Given the description of an element on the screen output the (x, y) to click on. 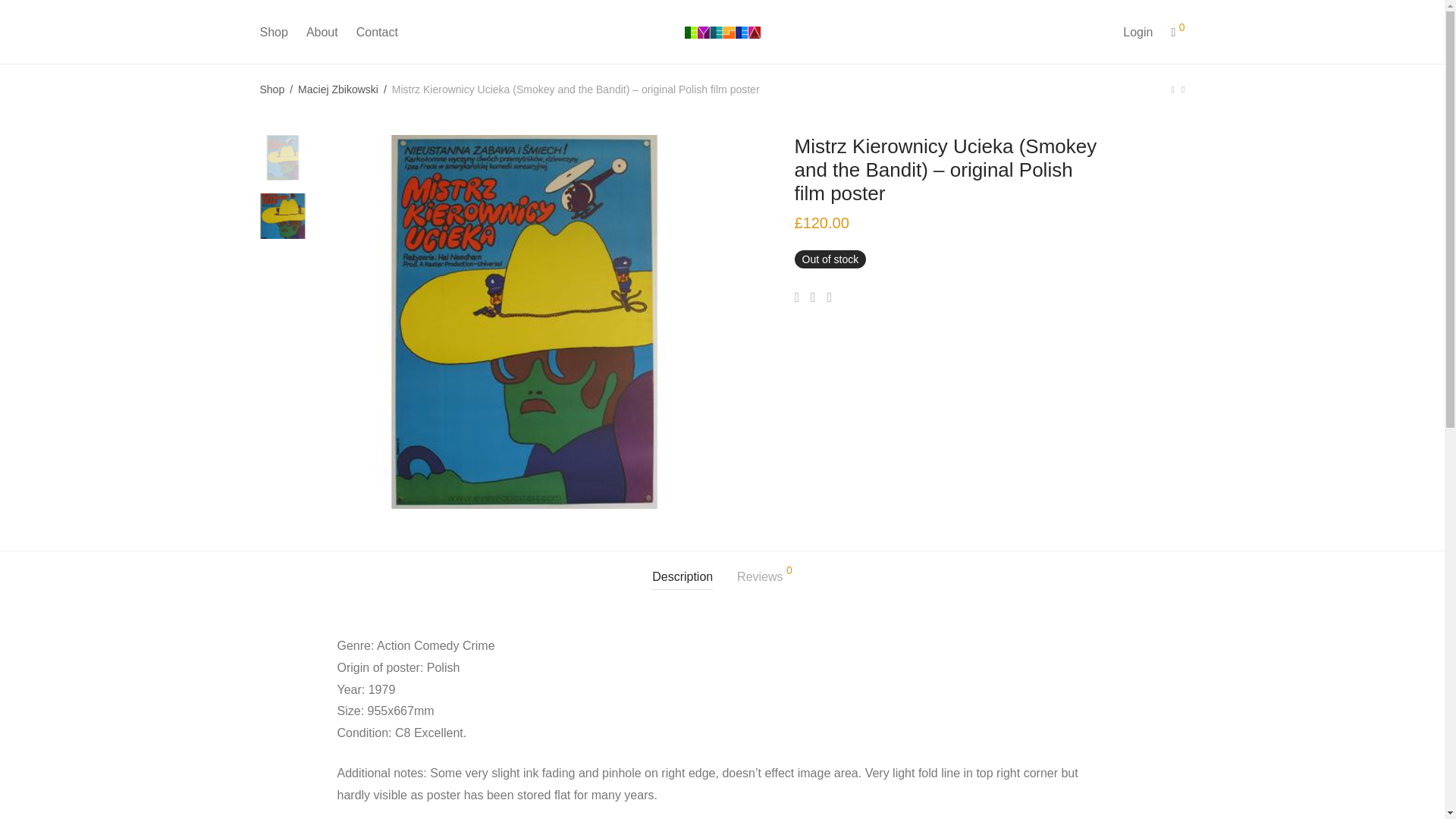
Reviews 0 (764, 577)
Shop (273, 32)
Maciej Zbikowski (338, 88)
Description (682, 577)
About (322, 32)
Login (1137, 32)
Shop (271, 88)
Contact (377, 32)
